Given the description of an element on the screen output the (x, y) to click on. 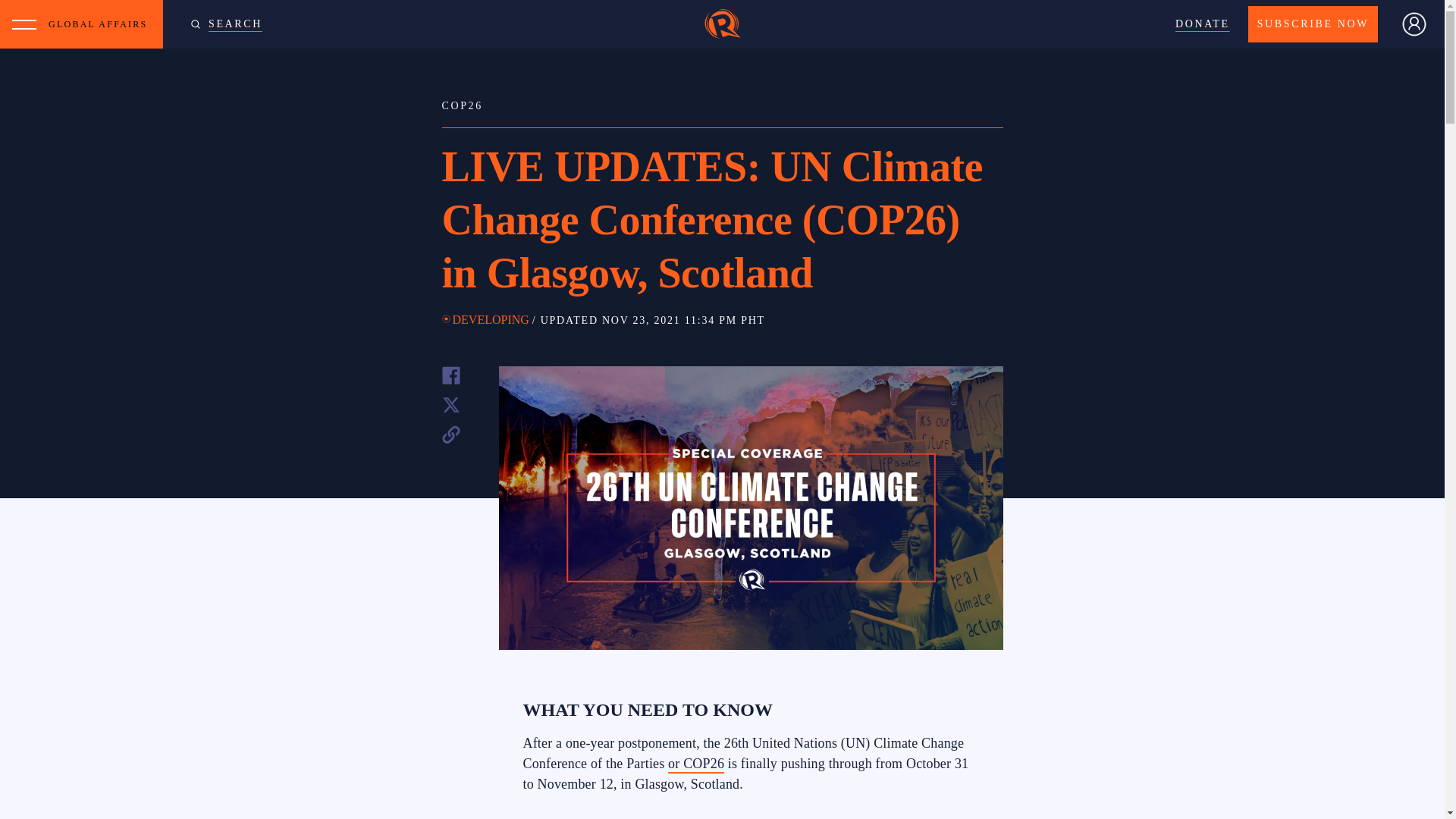
OPEN NAVIGATION (24, 24)
GLOBAL AFFAIRS (101, 23)
